Given the description of an element on the screen output the (x, y) to click on. 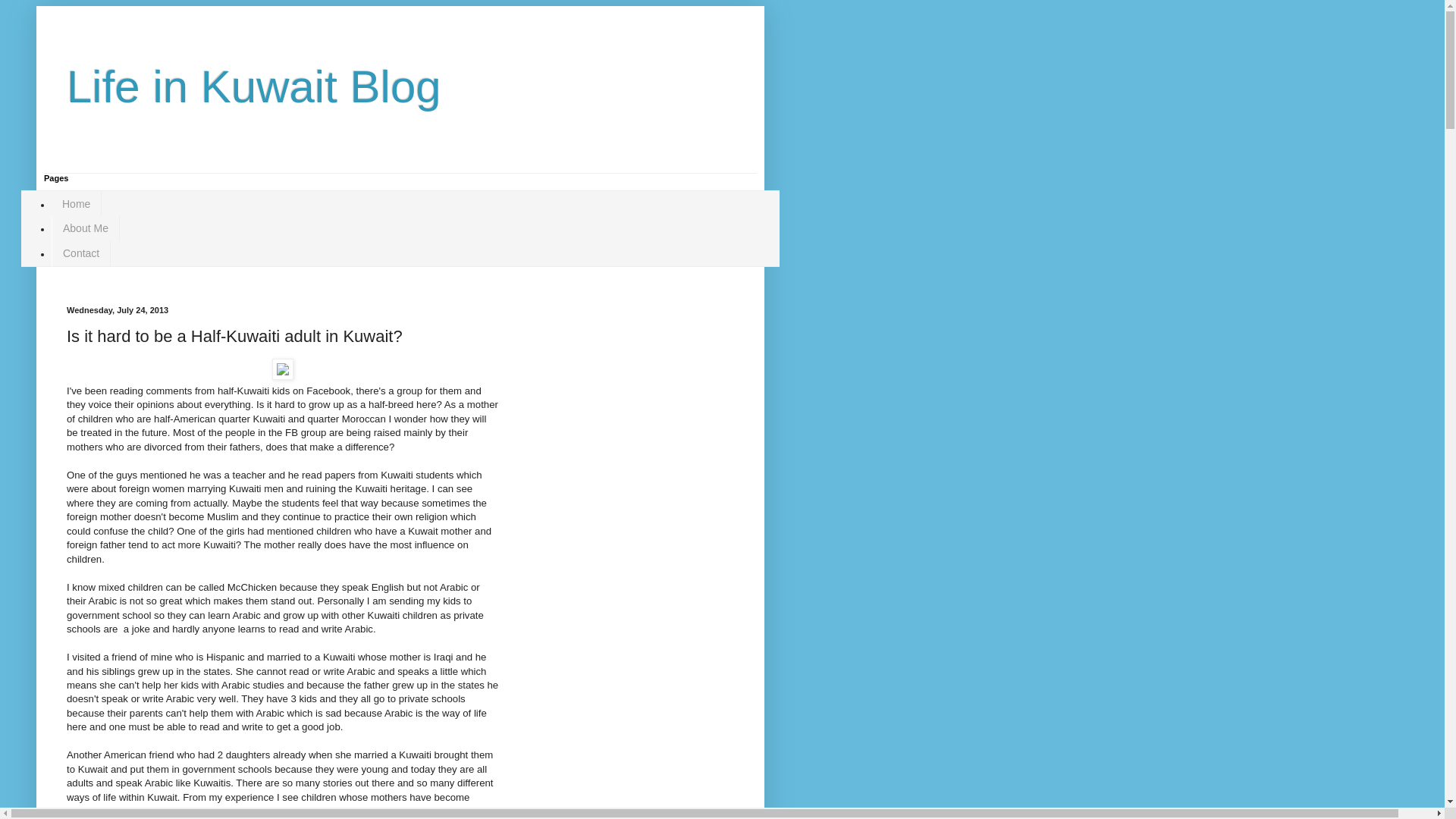
Home (75, 203)
Contact (80, 253)
About Me (84, 228)
Life in Kuwait Blog (253, 86)
